Given the description of an element on the screen output the (x, y) to click on. 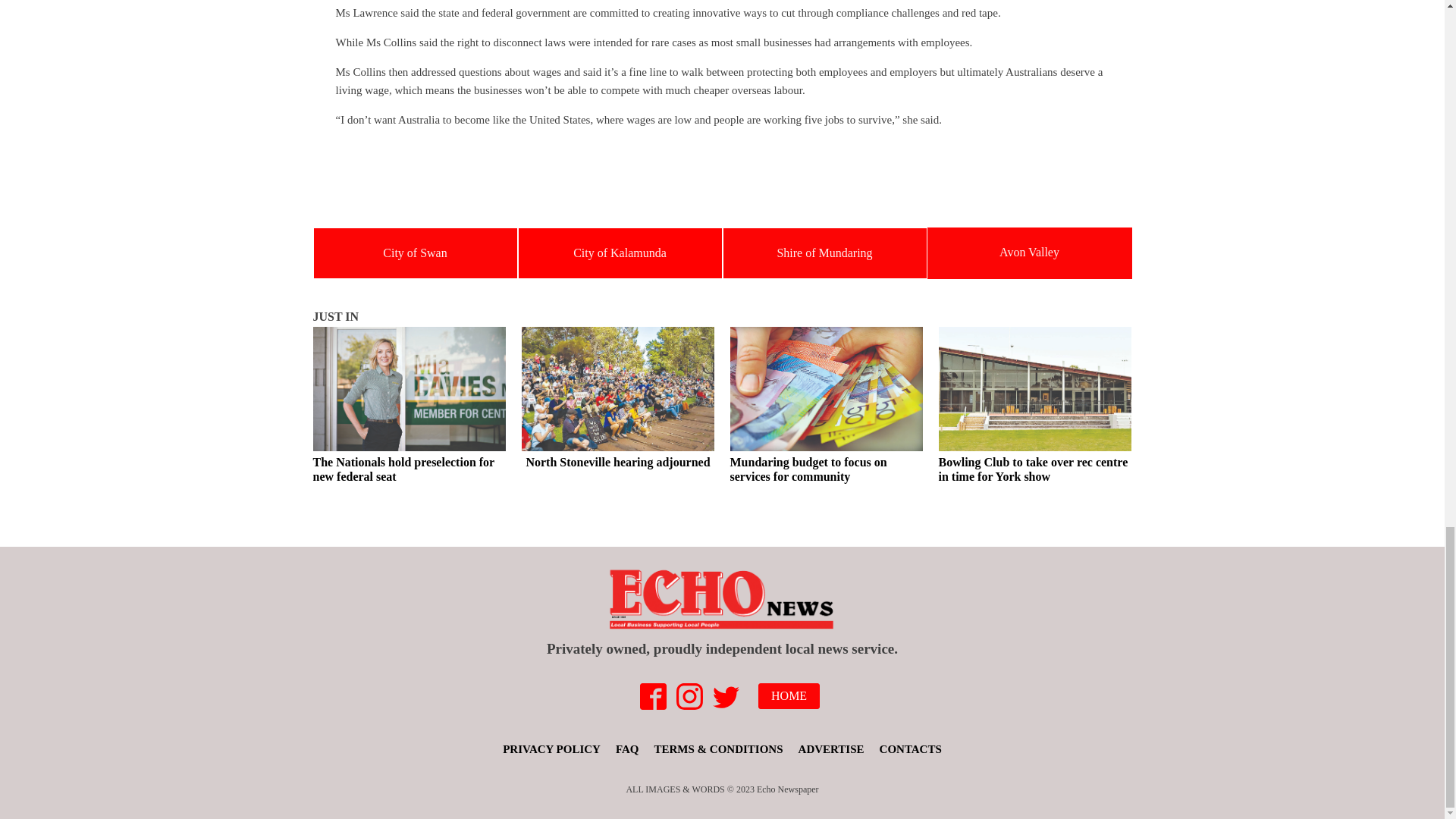
The Nationals hold preselection for new federal seat (409, 407)
HOME (788, 696)
Bowling Club to take over rec centre in time for York show (1035, 407)
Shire of Mundaring (824, 252)
North Stoneville hearing adjourned (617, 400)
ADVERTISE (831, 749)
Avon Valley (1028, 252)
City of Kalamunda (619, 252)
PRIVACY POLICY (551, 749)
Mundaring budget to focus on services for community (826, 407)
